Given the description of an element on the screen output the (x, y) to click on. 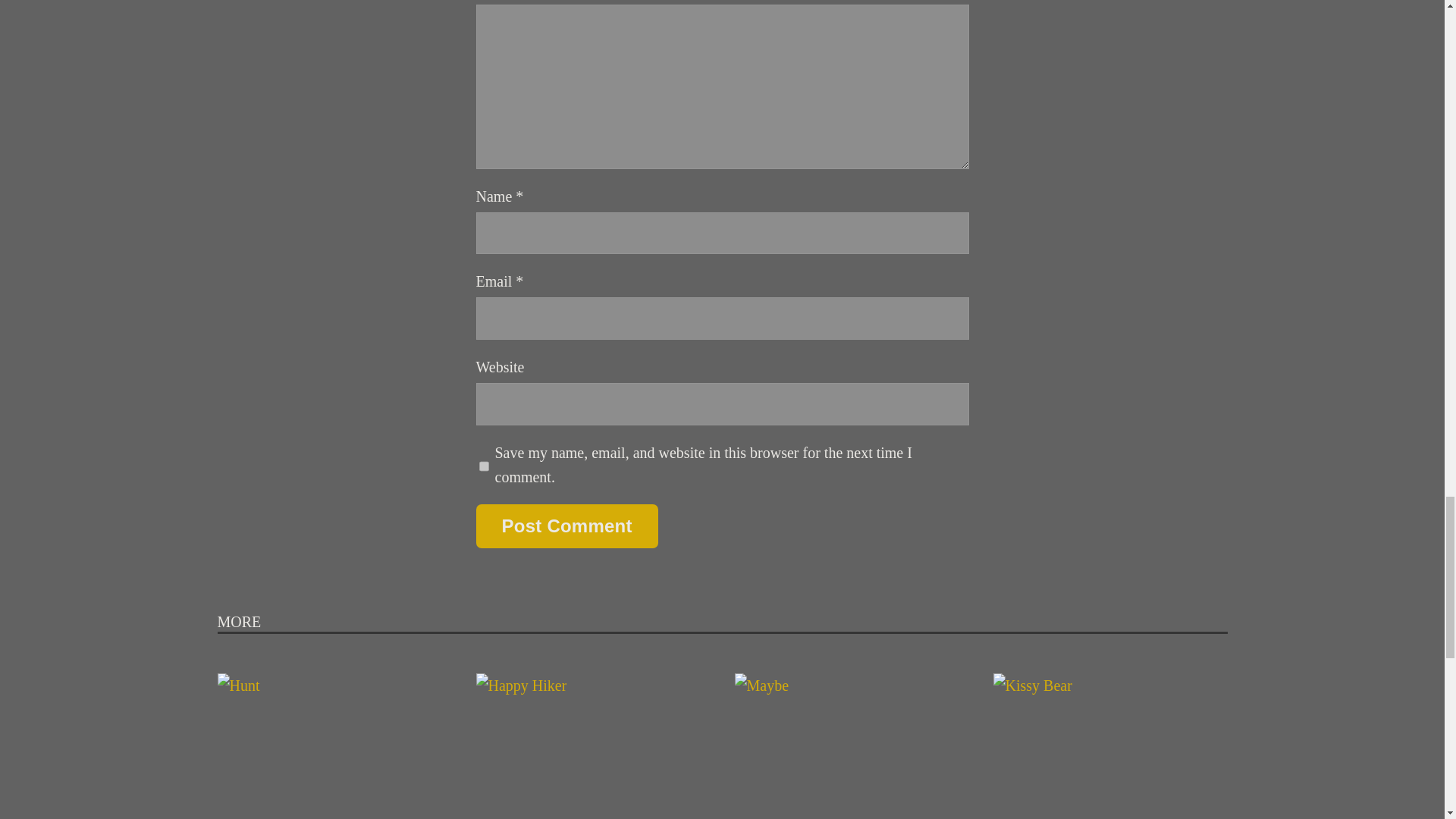
Post Comment (567, 525)
yes (484, 465)
Post Comment (567, 525)
